Given the description of an element on the screen output the (x, y) to click on. 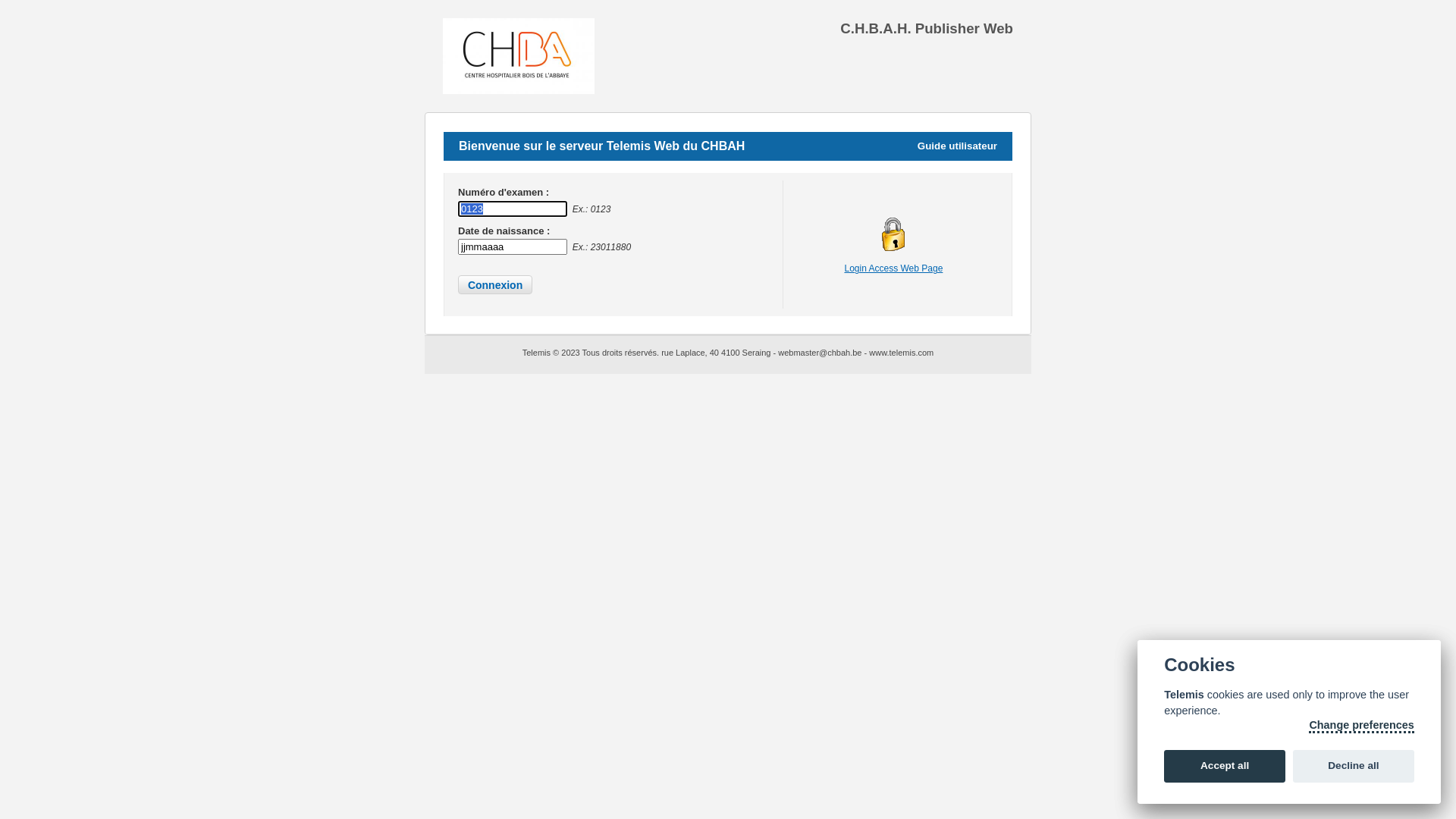
www.telemis.com Element type: text (901, 352)
Telemis Element type: text (537, 352)
Accept all Element type: text (1224, 766)
Change preferences Element type: text (1360, 725)
Decline all Element type: text (1353, 766)
webmaster@chbah.be Element type: text (819, 352)
Login Access Web Page Element type: text (893, 268)
Guide utilisateur Element type: text (957, 146)
 Connexion  Element type: text (495, 284)
